Given the description of an element on the screen output the (x, y) to click on. 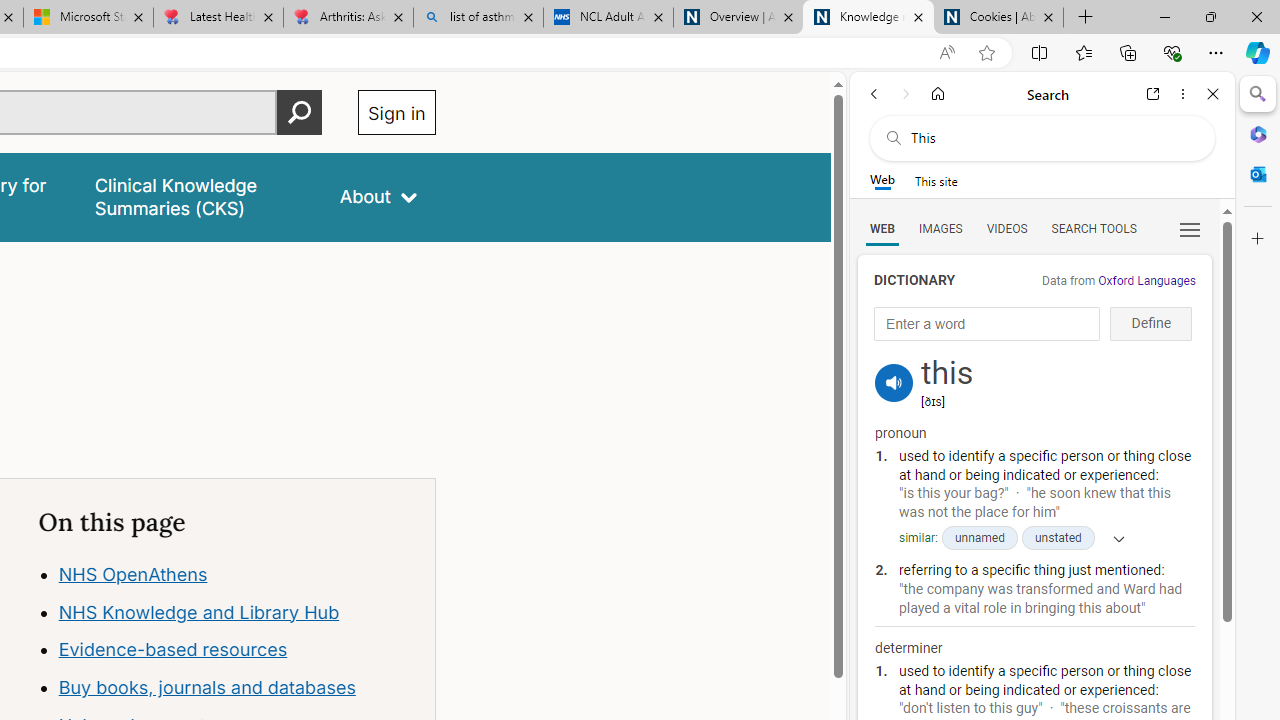
Enter a word (987, 323)
NHS OpenAthens (132, 573)
Define (1150, 323)
